Given the description of an element on the screen output the (x, y) to click on. 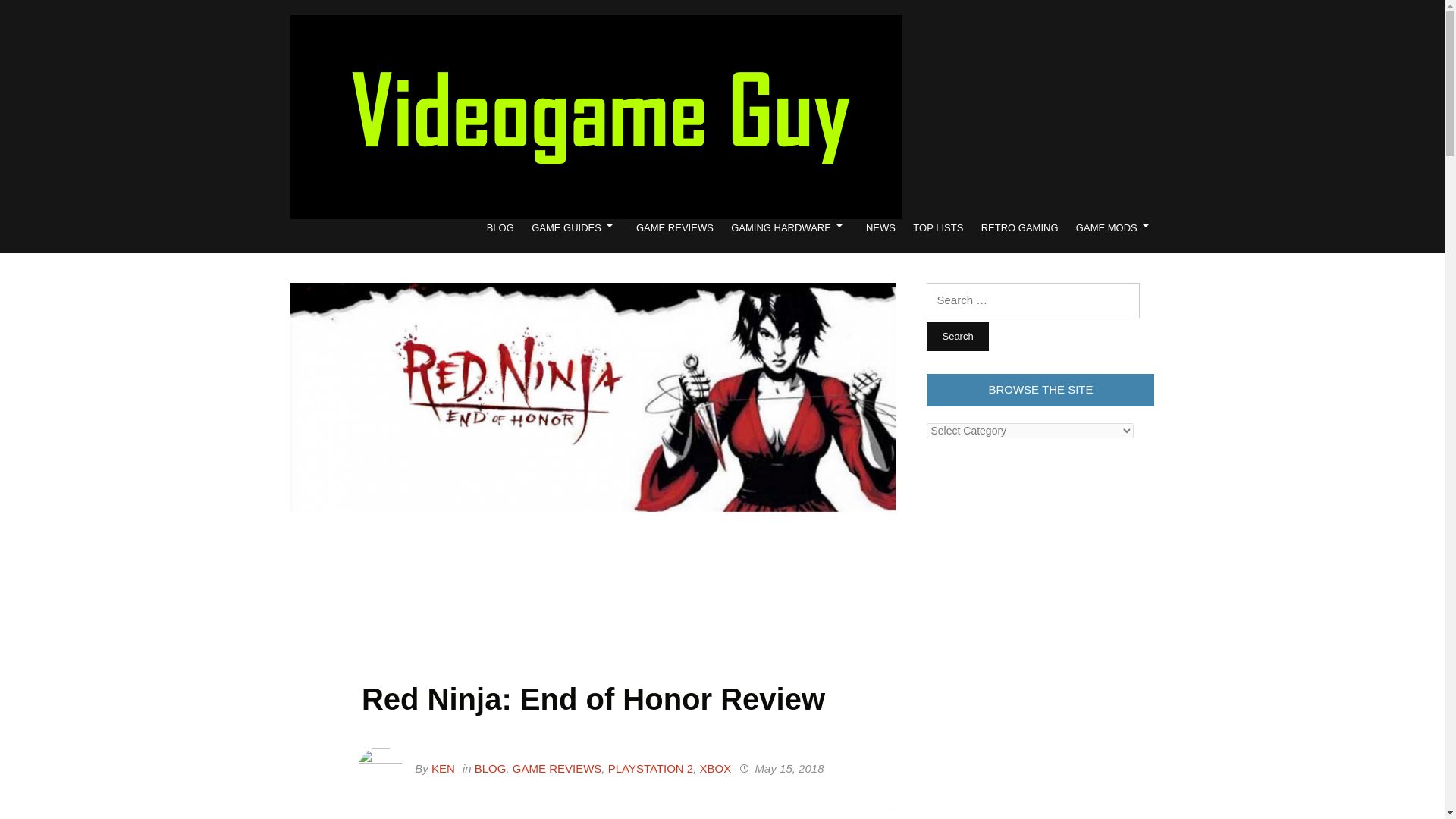
Search (957, 336)
Search (957, 336)
Posts by Ken (442, 768)
